Given the description of an element on the screen output the (x, y) to click on. 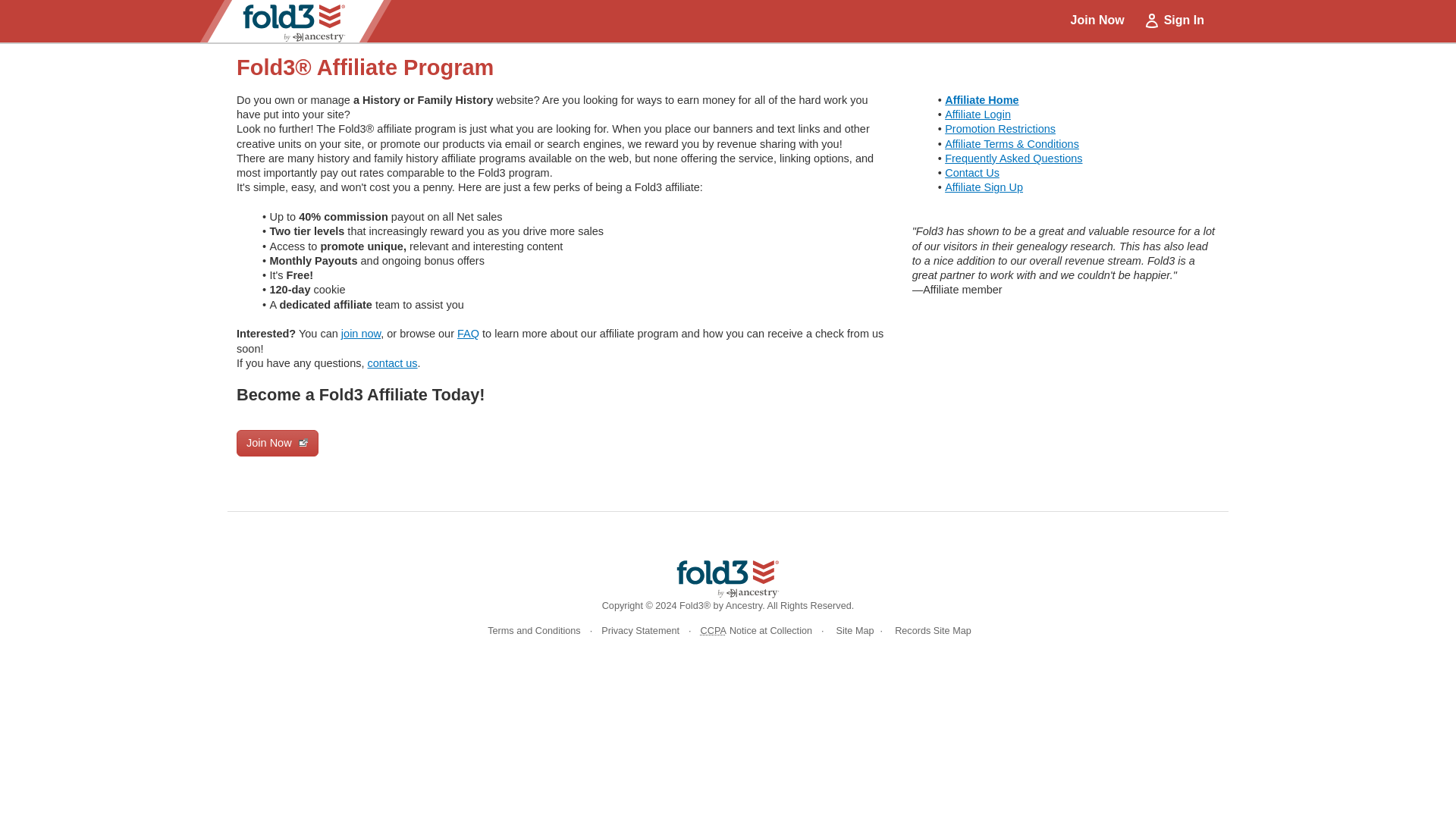
join now (360, 333)
Affiliate Login (977, 114)
Affiliate Home (981, 100)
Sign In (1173, 20)
Frequently Asked Questions (1012, 158)
Join Now (1097, 20)
Join Now (276, 443)
CCPANotice at Collection (756, 630)
Records Site Map (929, 630)
Privacy Statement (640, 630)
Promotion Restrictions (999, 128)
Contact Us (971, 173)
Site Map (852, 630)
Terms and Conditions (533, 630)
Affiliate Sign Up (983, 186)
